Given the description of an element on the screen output the (x, y) to click on. 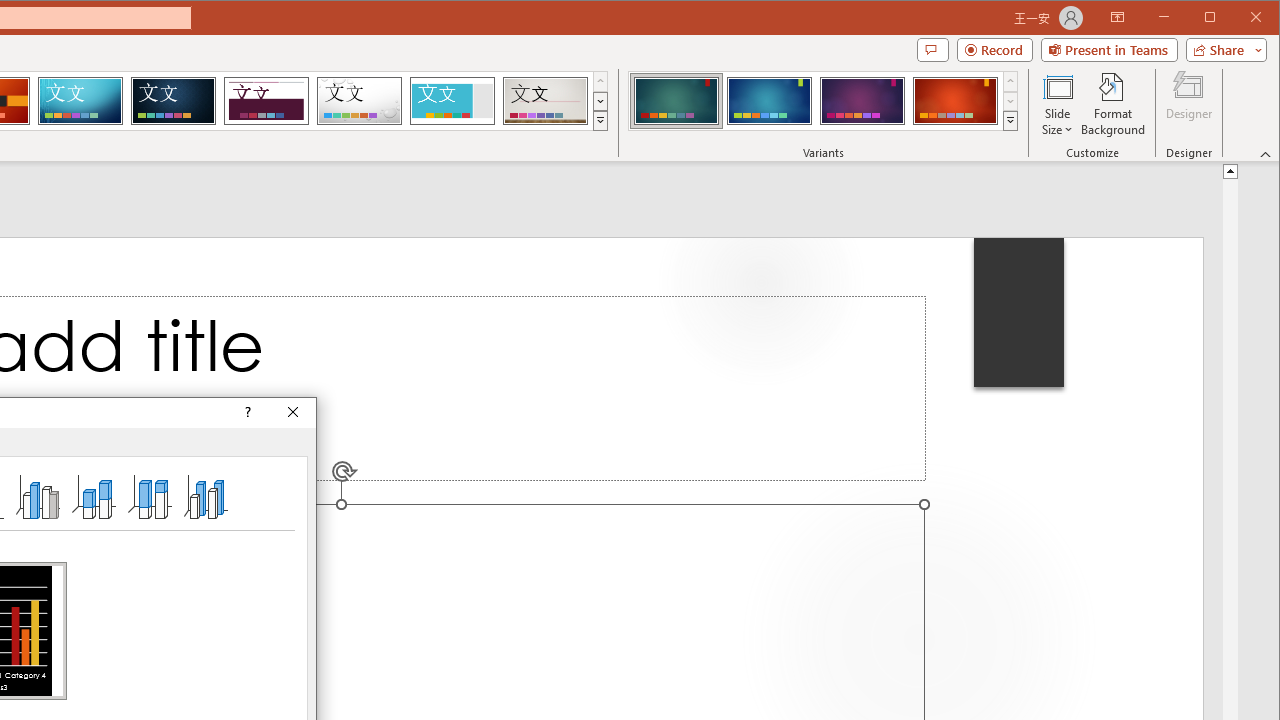
Circuit (80, 100)
Droplet (359, 100)
Ion Variant 4 (955, 100)
3-D Column (205, 496)
AutomationID: ThemeVariantsGallery (824, 101)
3-D 100% Stacked Column (149, 496)
